Given the description of an element on the screen output the (x, y) to click on. 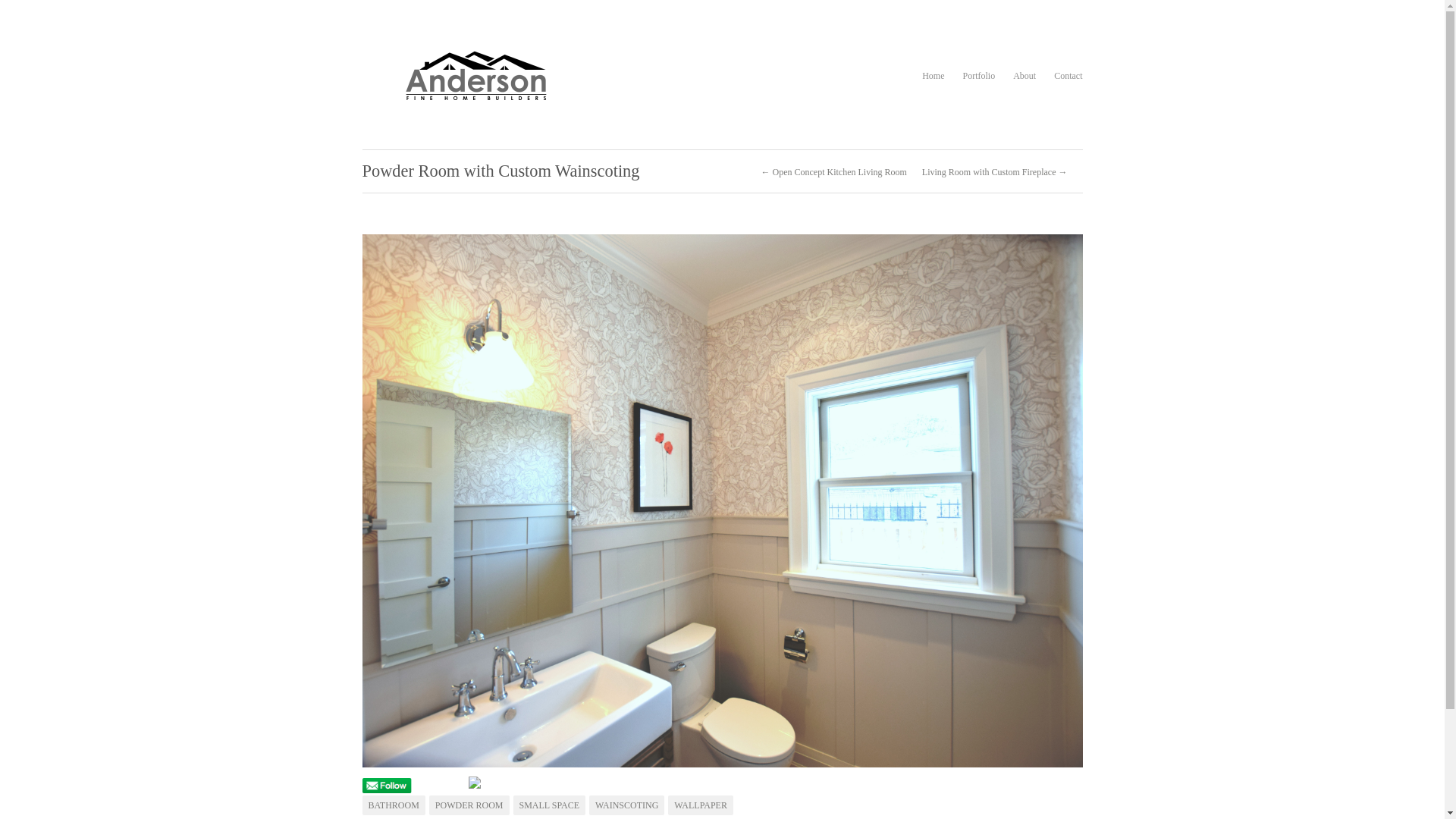
Contact Element type: text (1068, 75)
About Element type: text (1024, 75)
WALLPAPER Element type: text (700, 805)
BATHROOM Element type: text (393, 805)
Portfolio Element type: text (979, 75)
SMALL SPACE Element type: text (549, 805)
Home Element type: text (933, 75)
WAINSCOTING Element type: text (626, 805)
POWDER ROOM Element type: text (469, 805)
